Given the description of an element on the screen output the (x, y) to click on. 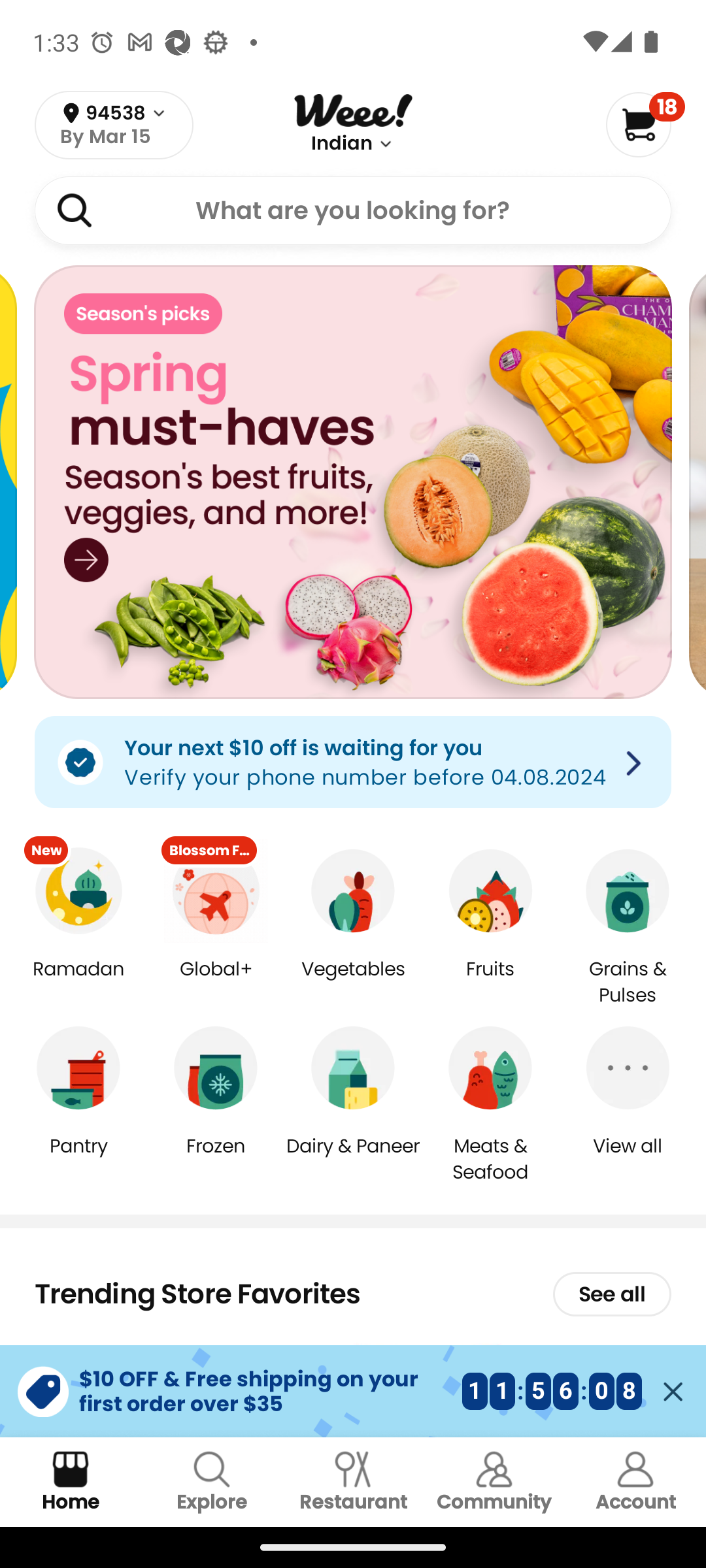
94538 By Mar 15 (113, 124)
18 (644, 124)
Indian (341, 143)
What are you looking for? (352, 209)
Ramadan (77, 982)
Global+ (215, 982)
Vegetables (352, 982)
Fruits (490, 982)
Grains & Pulses (627, 982)
Pantry (77, 1159)
Frozen (215, 1159)
Dairy & Paneer (352, 1159)
Meats & Seafood (490, 1158)
View all (627, 1159)
Home (70, 1482)
Explore (211, 1482)
Restaurant (352, 1482)
Community (493, 1482)
Account (635, 1482)
